Given the description of an element on the screen output the (x, y) to click on. 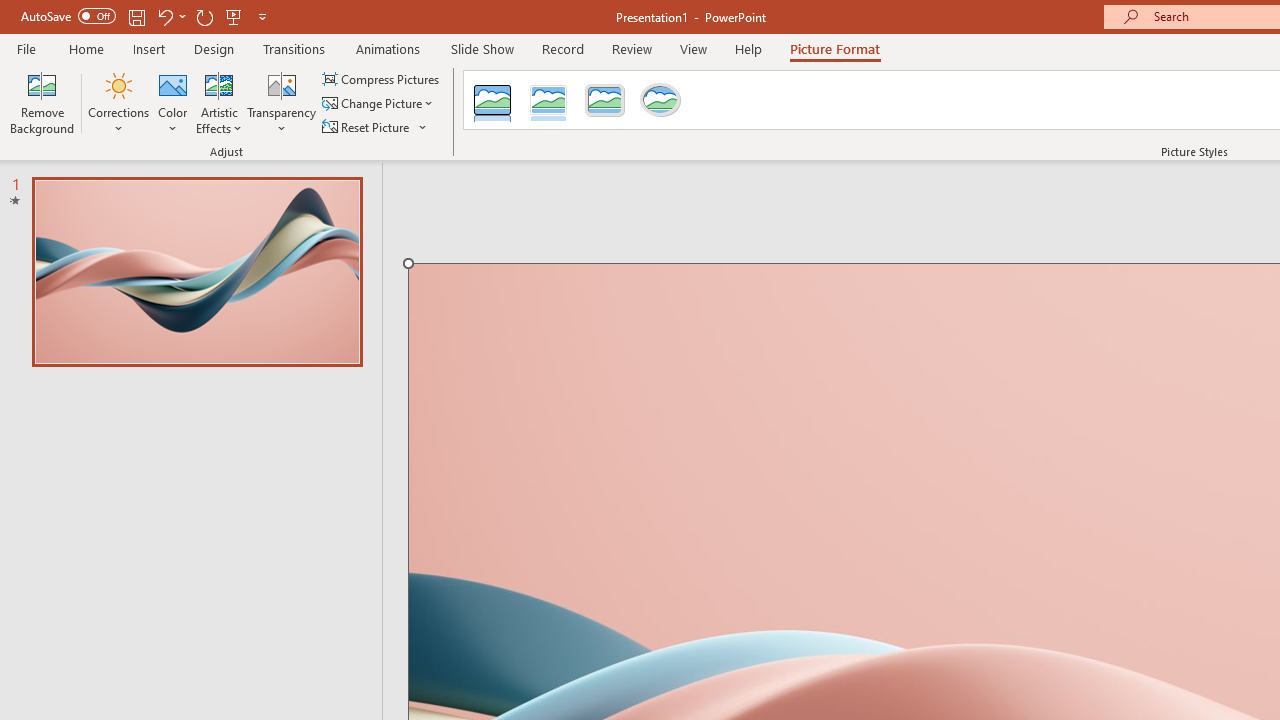
Picture Format (834, 48)
Metal Oval (660, 100)
Compress Pictures... (381, 78)
Artistic Effects (219, 102)
Reflected Bevel, Black (492, 100)
Reflected Bevel, White (548, 100)
Corrections (118, 102)
